Given the description of an element on the screen output the (x, y) to click on. 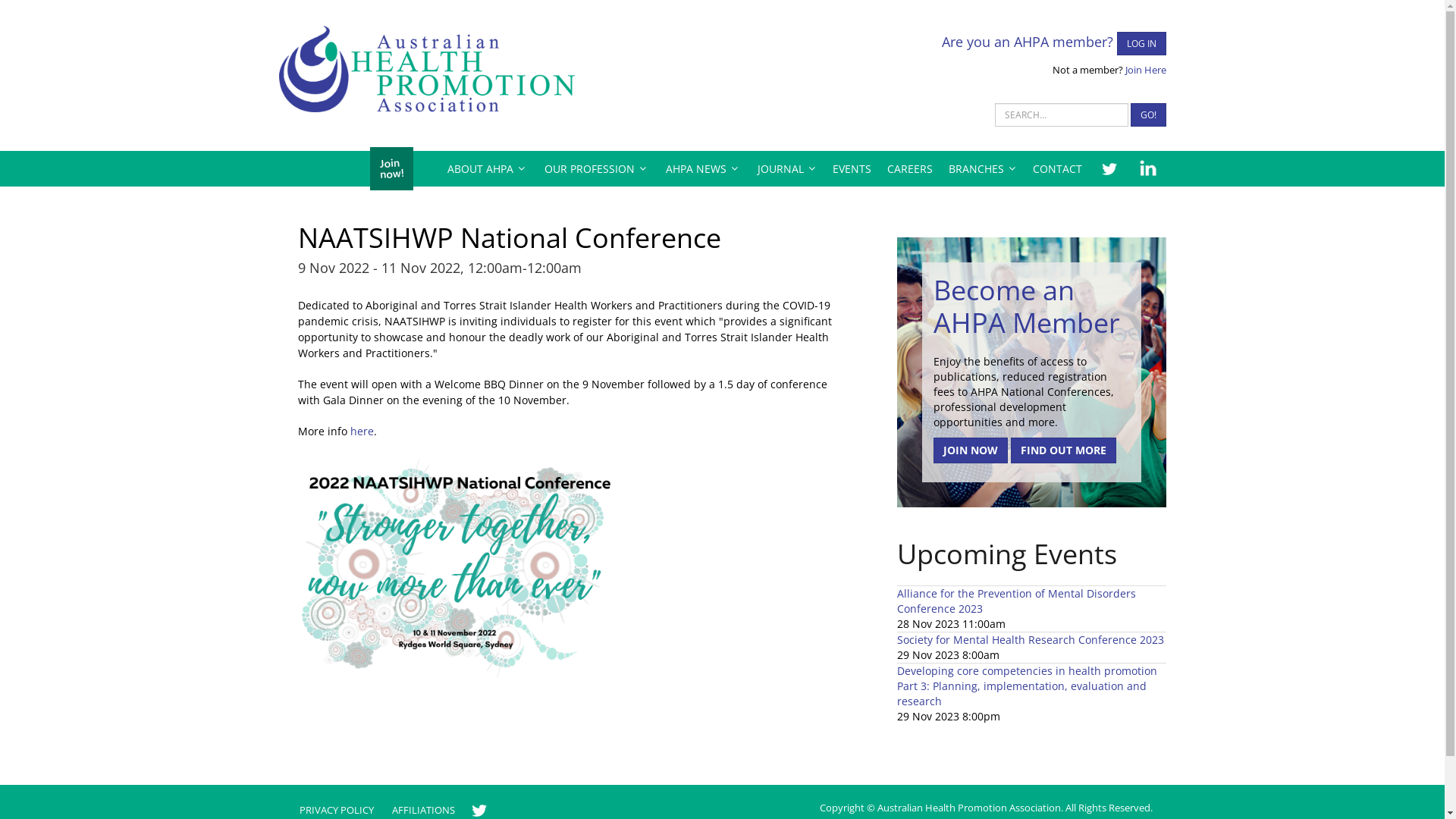
CONTACT Element type: text (1056, 168)
BRANCHES Element type: text (982, 168)
Join Here Element type: text (1145, 69)
EVENTS Element type: text (851, 168)
CAREERS Element type: text (908, 168)
Australian Health Promotion Association Element type: hover (426, 68)
here Element type: text (361, 430)
JOIN NOW Element type: text (970, 450)
GO! Element type: text (1147, 114)
Society for Mental Health Research Conference 2023 Element type: text (1030, 639)
LOG IN Element type: text (1140, 43)
FIND OUT MORE Element type: text (1063, 450)
